Given the description of an element on the screen output the (x, y) to click on. 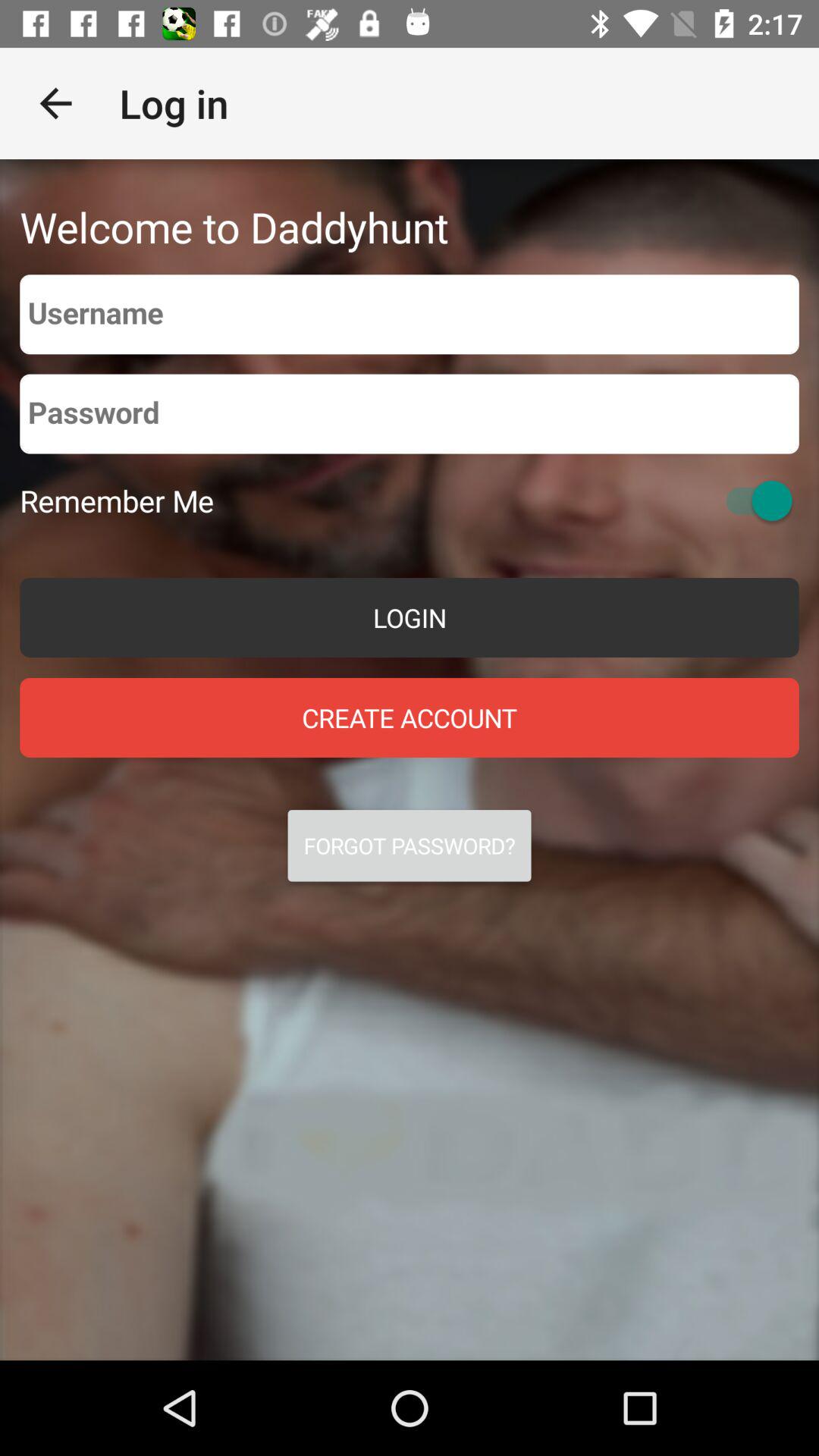
enter password (409, 413)
